Given the description of an element on the screen output the (x, y) to click on. 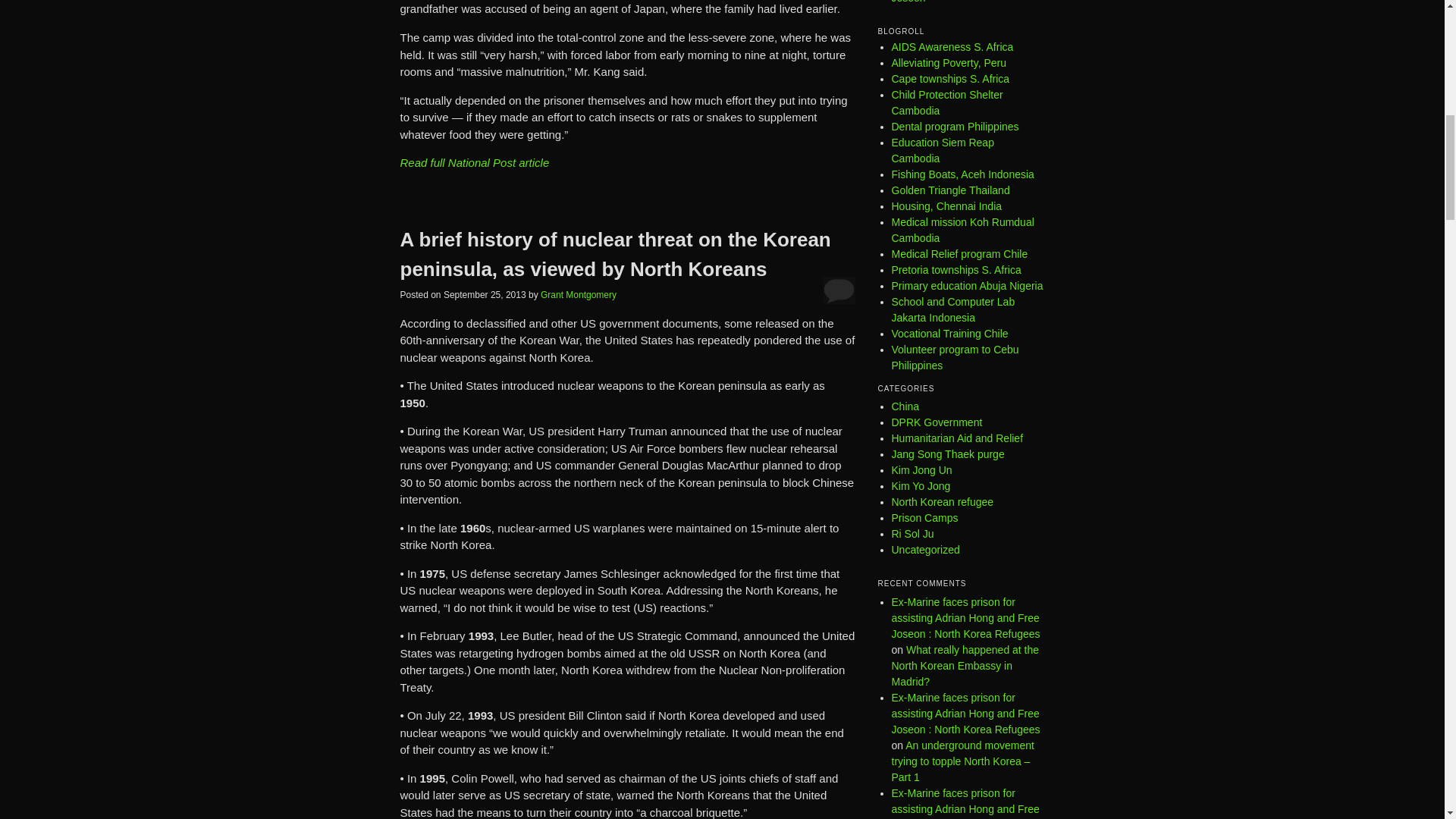
Posts by Grant Montgomery (577, 294)
Read full National Post article (475, 162)
Grant Montgomery (577, 294)
